Given the description of an element on the screen output the (x, y) to click on. 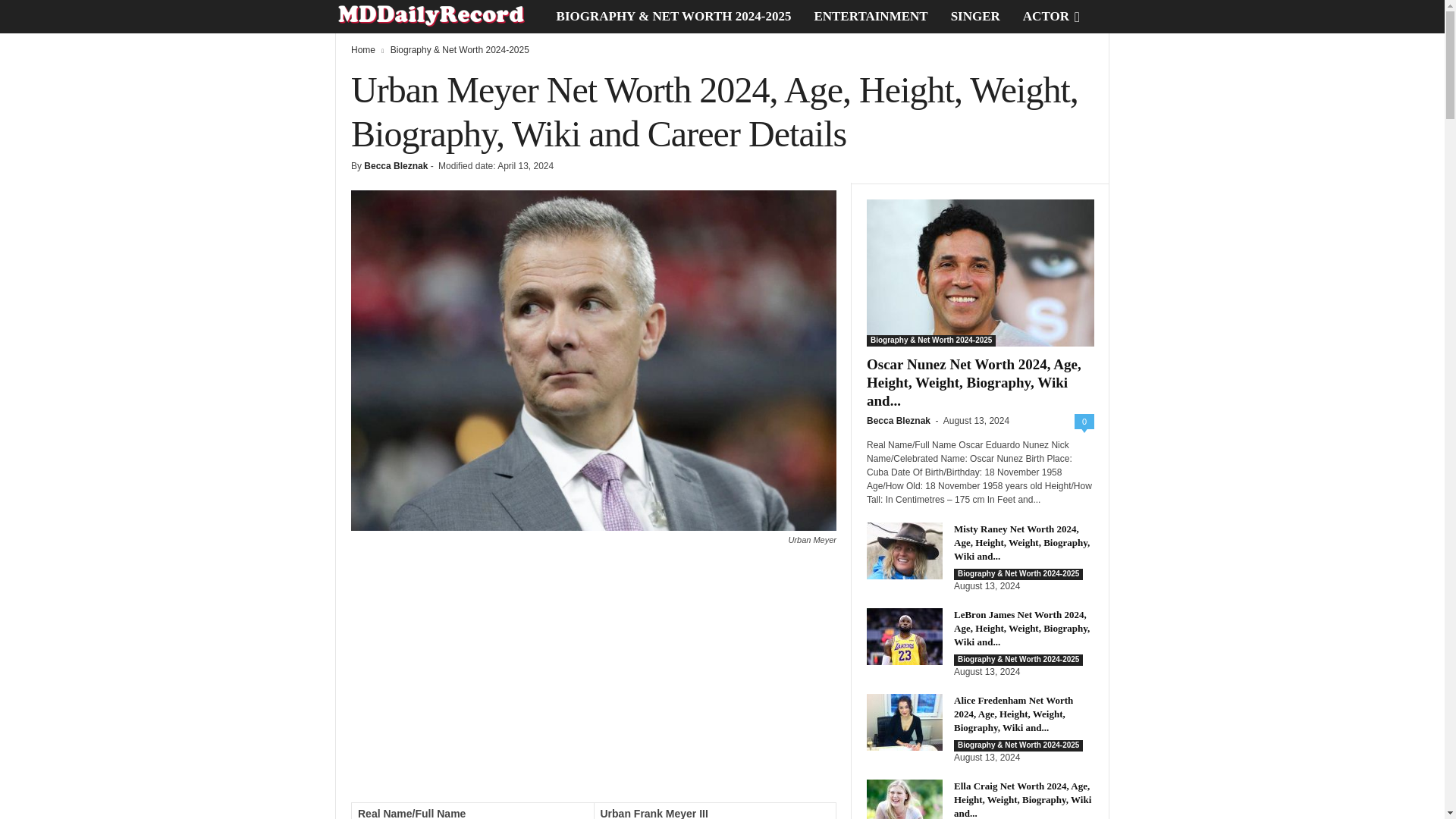
ACTOR (1045, 16)
MD Daily Record (439, 16)
ENTERTAINMENT (870, 16)
Advertisement (592, 680)
Home (362, 50)
SINGER (975, 16)
Becca Bleznak (396, 165)
